Given the description of an element on the screen output the (x, y) to click on. 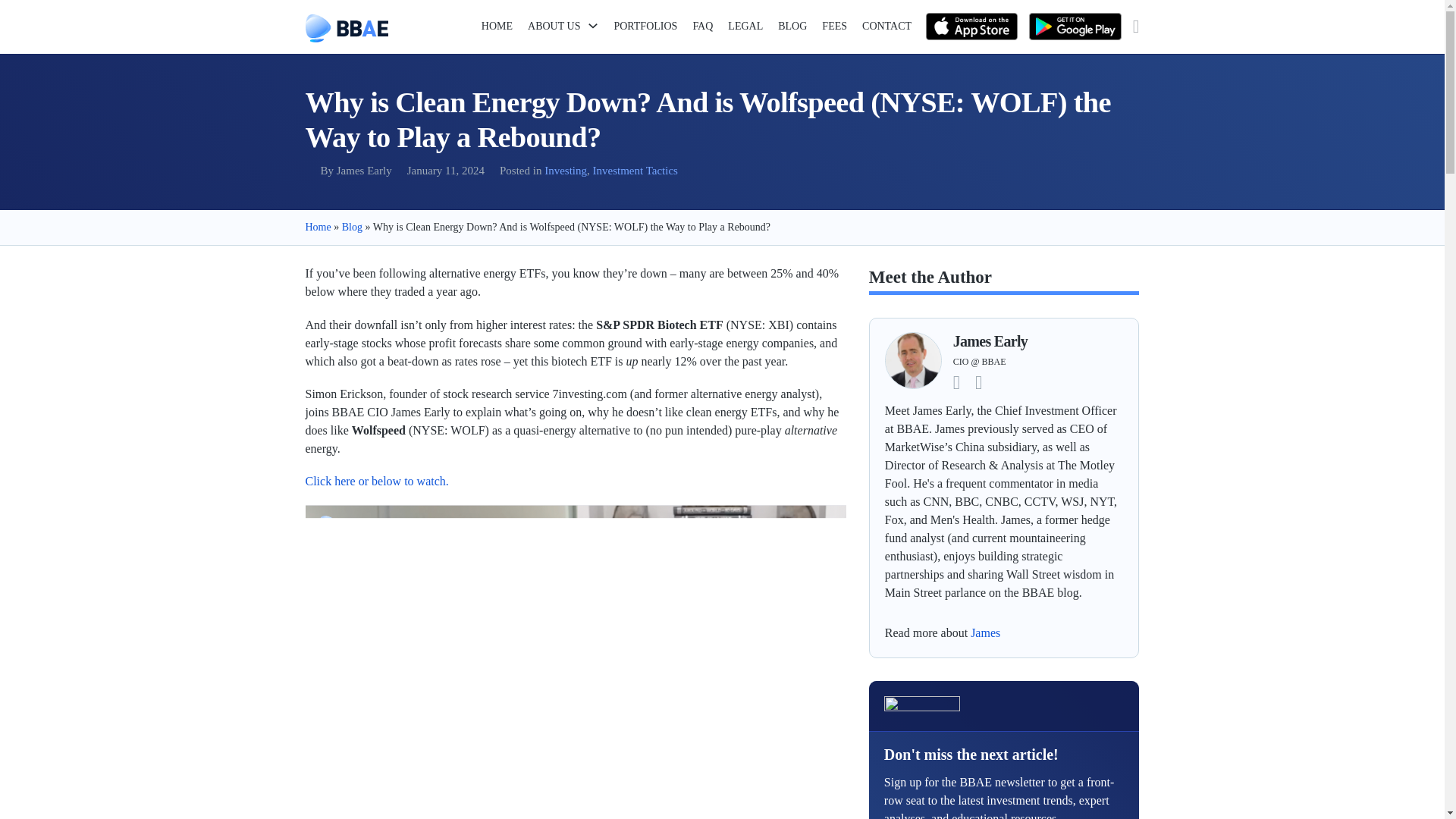
Click here or below to watch. (376, 481)
Investment Tactics (635, 170)
BBAE Logo (345, 28)
FAQ (703, 27)
FEES (834, 27)
Investing (565, 170)
BLOG (791, 27)
Blog (352, 226)
HOME (496, 27)
CONTACT (886, 27)
ABOUT US (553, 26)
PORTFOLIOS (644, 27)
Home (317, 226)
LEGAL (745, 27)
